Given the description of an element on the screen output the (x, y) to click on. 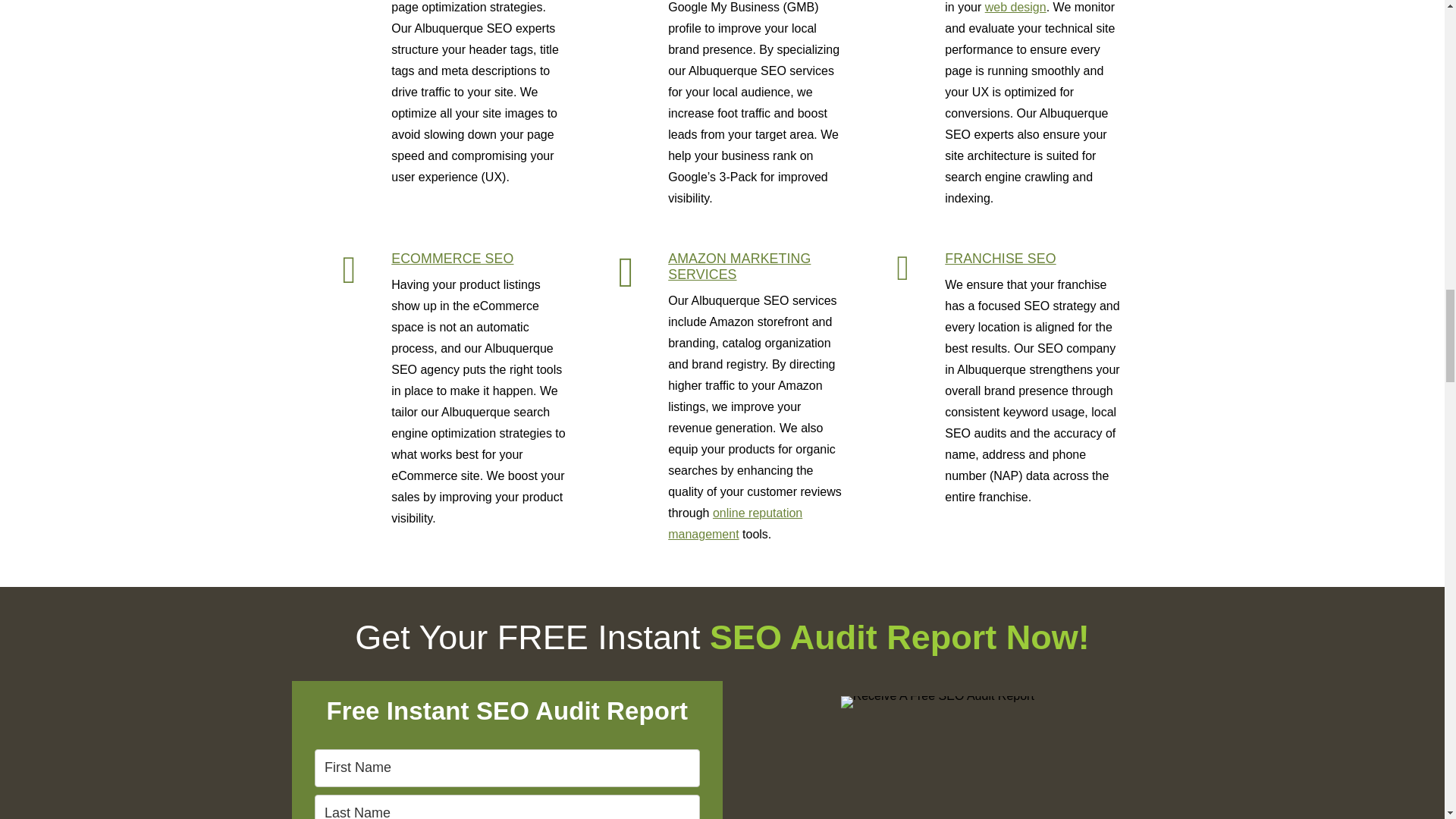
Instant SEO Audit Report (937, 702)
